Given the description of an element on the screen output the (x, y) to click on. 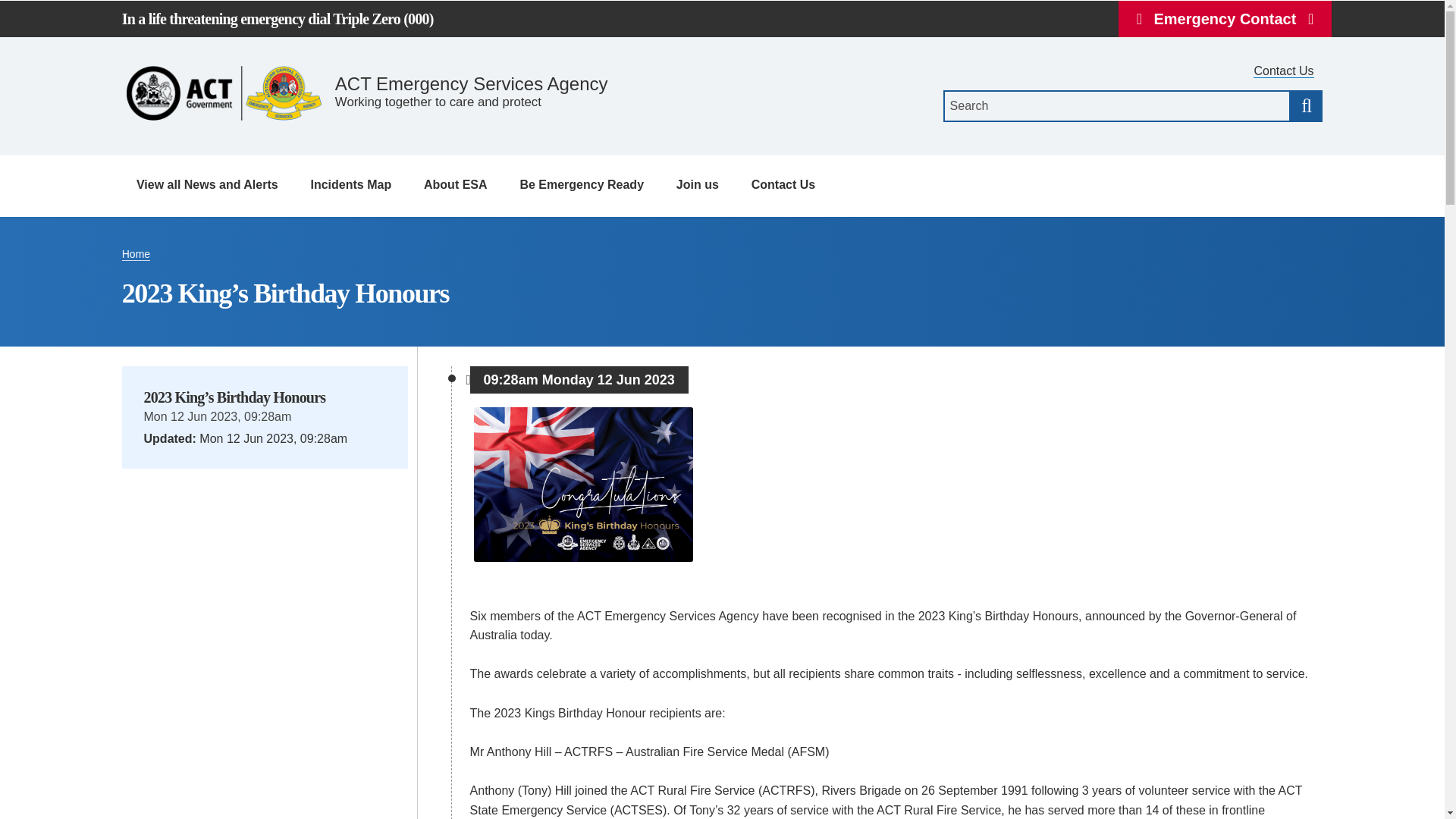
Home (368, 96)
Search (1306, 106)
About ESA (454, 186)
Be Emergency Ready (582, 186)
Emergency Contact (1225, 18)
Incidents Map (351, 186)
View all News and Alerts (206, 186)
Contact Us (1283, 70)
